Given the description of an element on the screen output the (x, y) to click on. 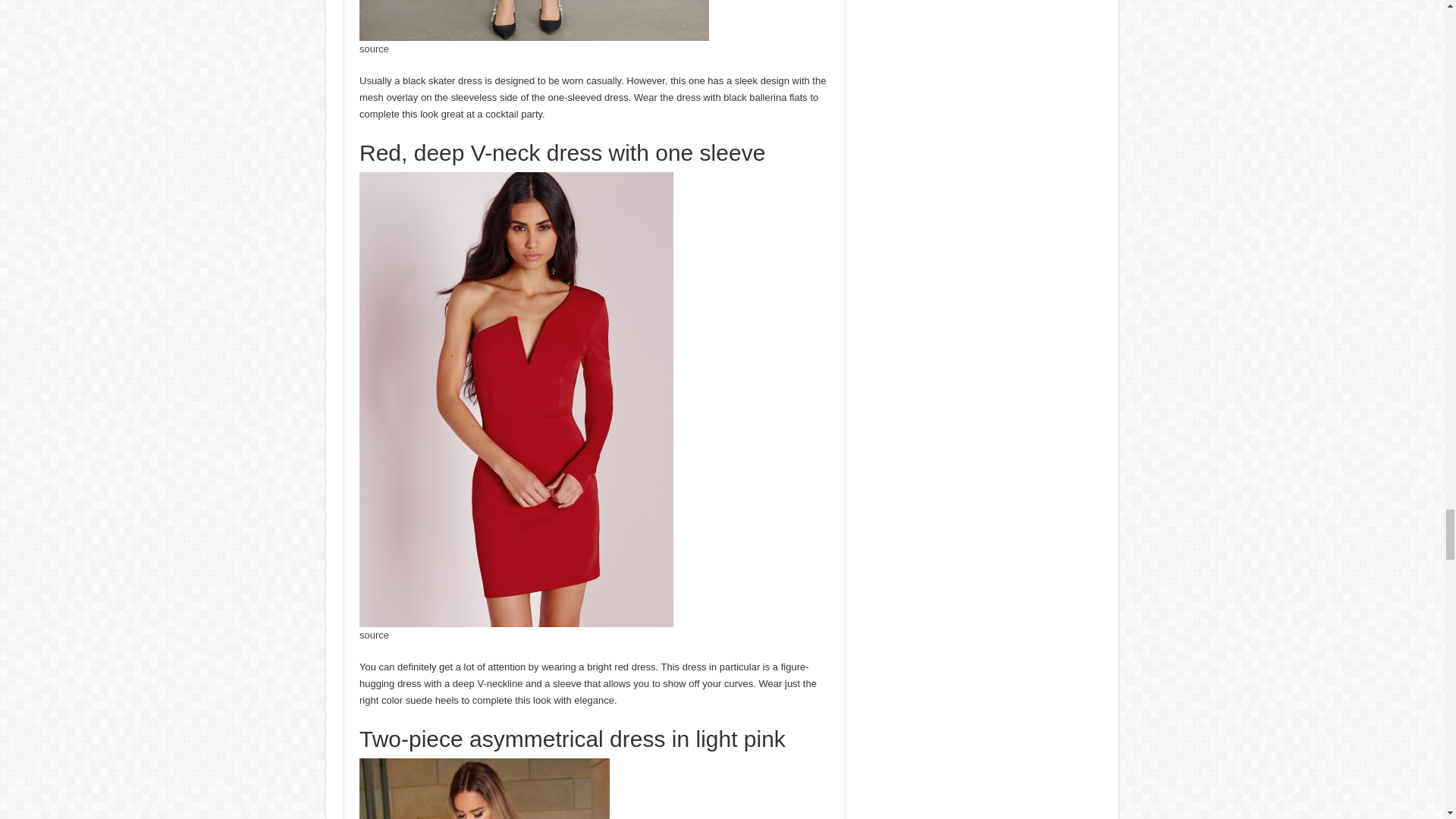
source (373, 48)
source (373, 634)
